Given the description of an element on the screen output the (x, y) to click on. 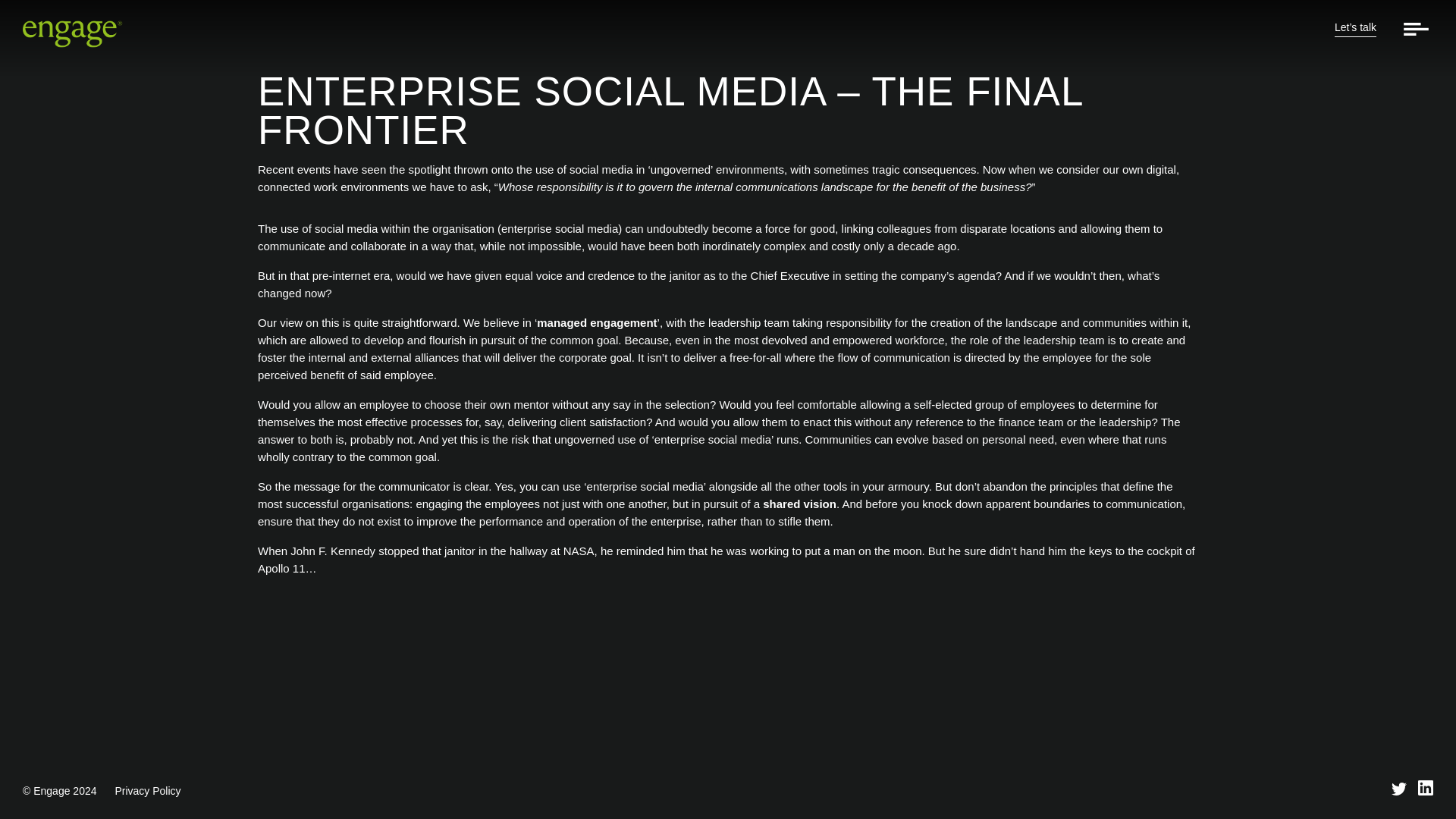
Privacy Policy (147, 790)
